Given the description of an element on the screen output the (x, y) to click on. 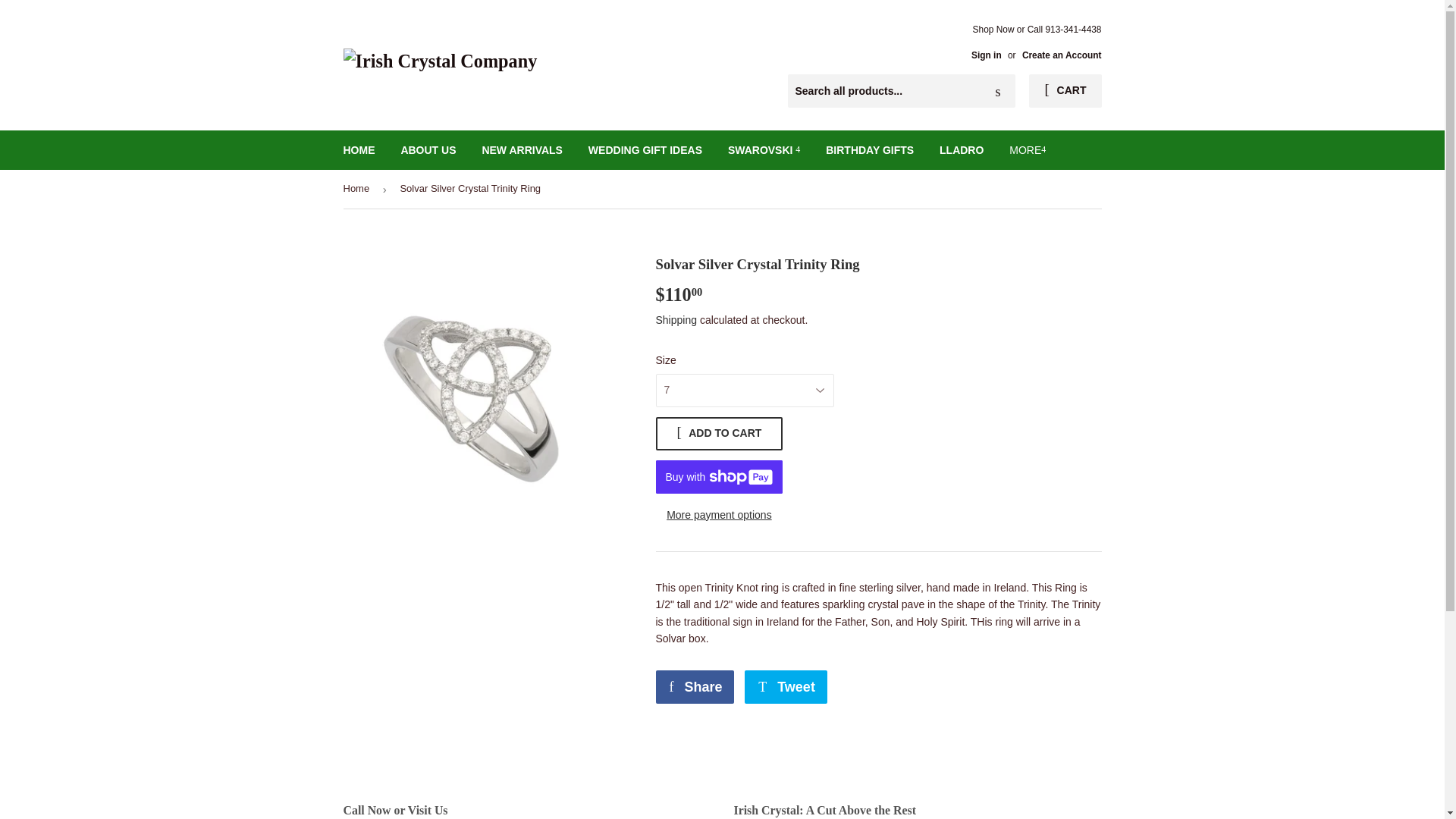
HOME (359, 149)
Create an Account (1062, 54)
SWAROVSKI (763, 149)
Tweet on Twitter (785, 686)
Share on Facebook (694, 686)
Search (997, 91)
Sign in (986, 54)
CART (1064, 90)
WEDDING GIFT IDEAS (644, 149)
NEW ARRIVALS (521, 149)
